Given the description of an element on the screen output the (x, y) to click on. 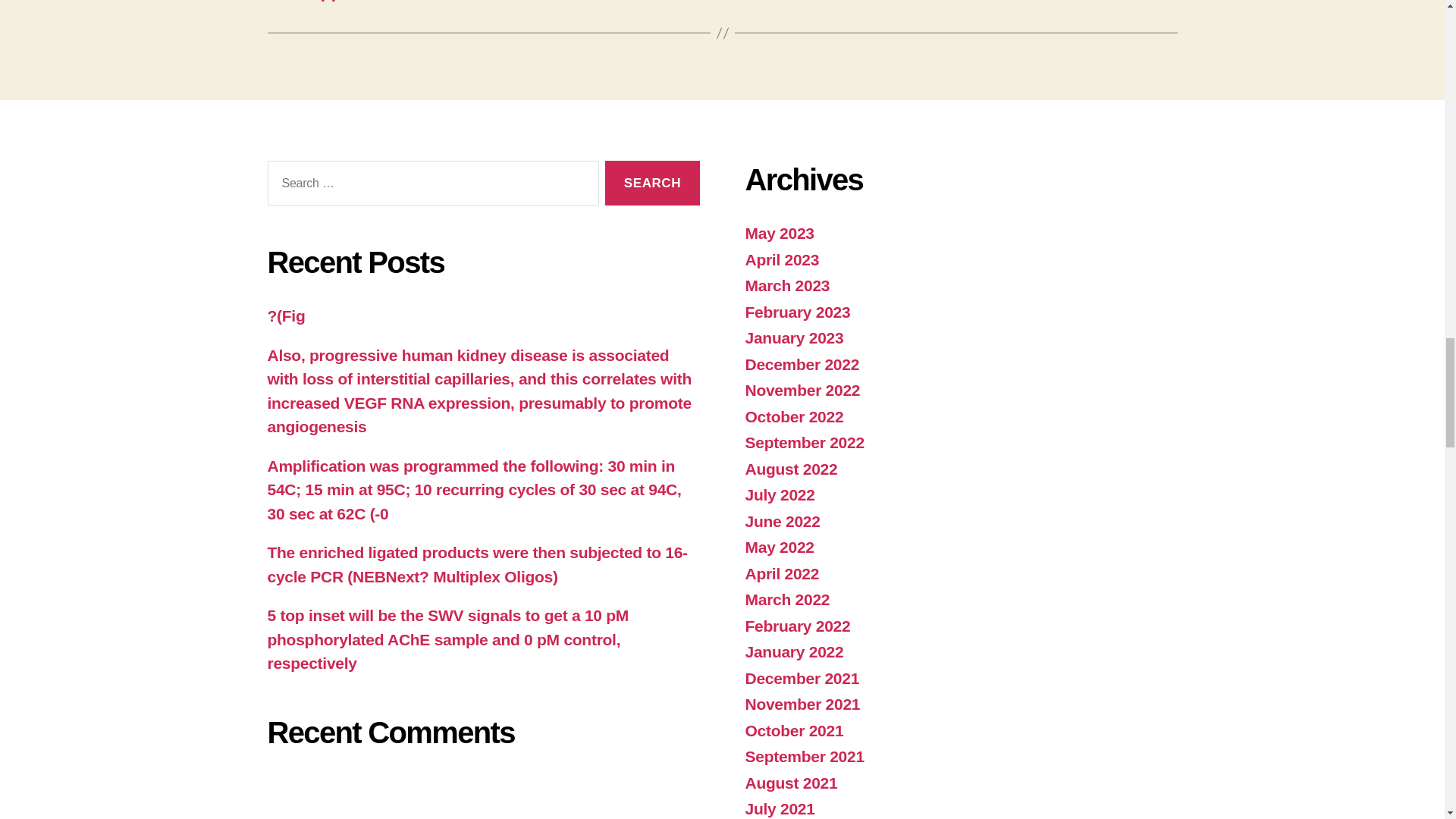
May 2023 (778, 232)
April 2023 (781, 259)
May 2022 (778, 547)
October 2022 (793, 416)
February 2023 (797, 312)
July 2022 (778, 494)
December 2022 (801, 364)
September 2022 (803, 442)
February 2022 (797, 625)
